Given the description of an element on the screen output the (x, y) to click on. 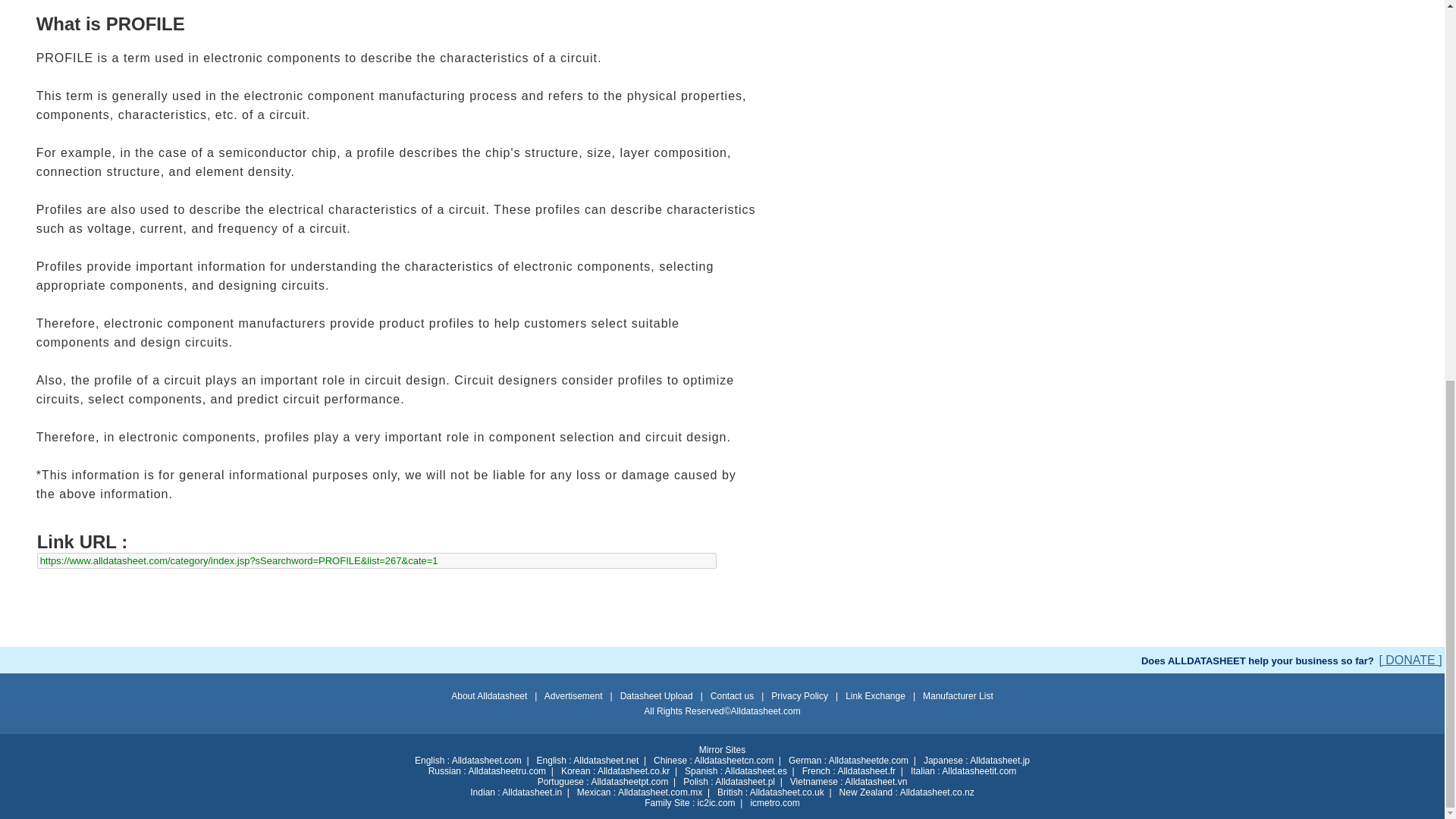
Advertisement (721, 612)
